Given the description of an element on the screen output the (x, y) to click on. 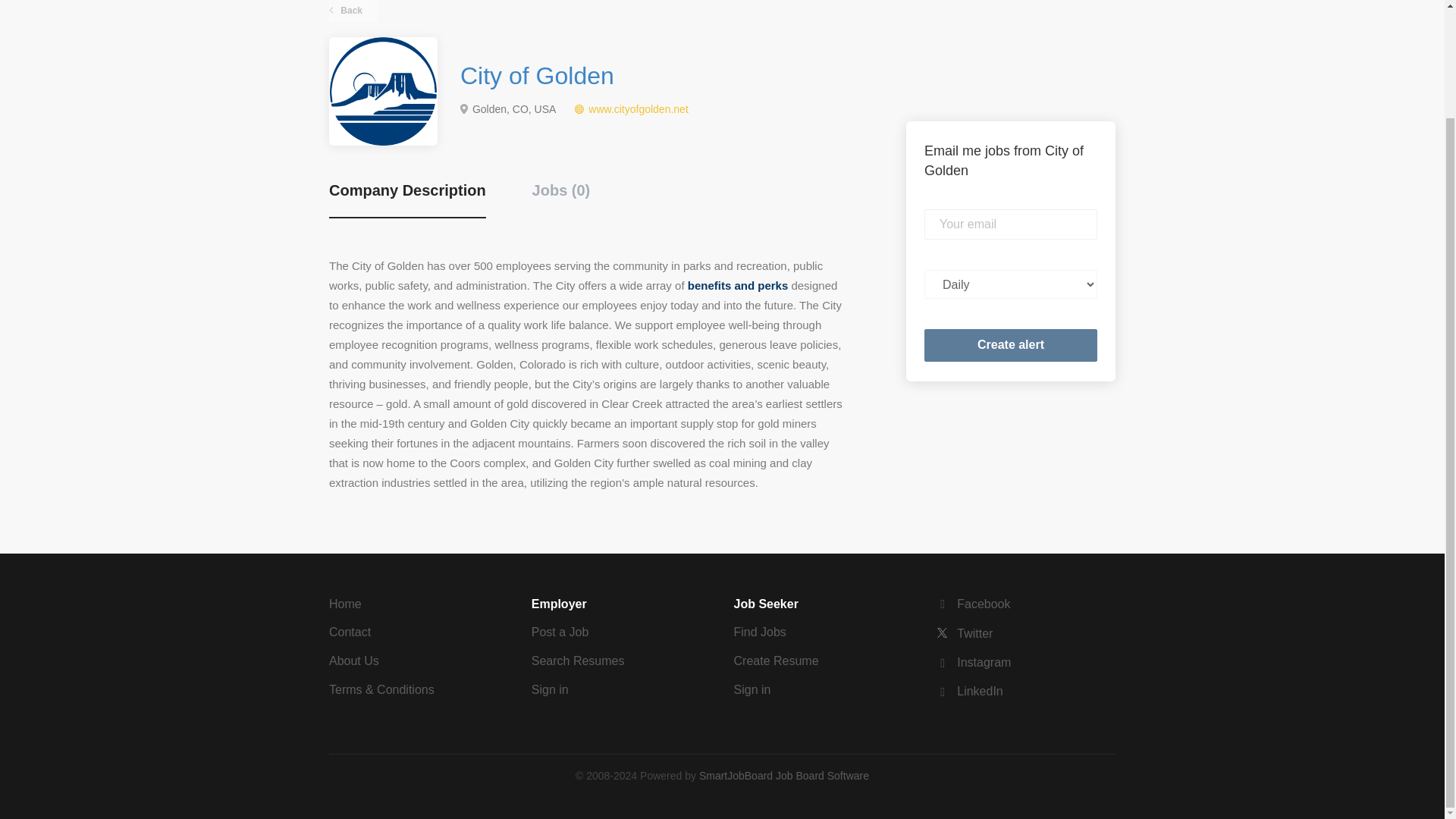
Contact (350, 631)
benefits and perks (738, 285)
Twitter (964, 633)
Post a Job (560, 631)
Create alert (1010, 345)
Facebook (973, 603)
Search Resumes (577, 660)
Job Board Software, Script (783, 775)
LinkedIn (969, 690)
Sign in (550, 689)
About Us (353, 660)
Instagram (973, 662)
Find Jobs (759, 631)
Home (345, 603)
SmartJobBoard Job Board Software (783, 775)
